Given the description of an element on the screen output the (x, y) to click on. 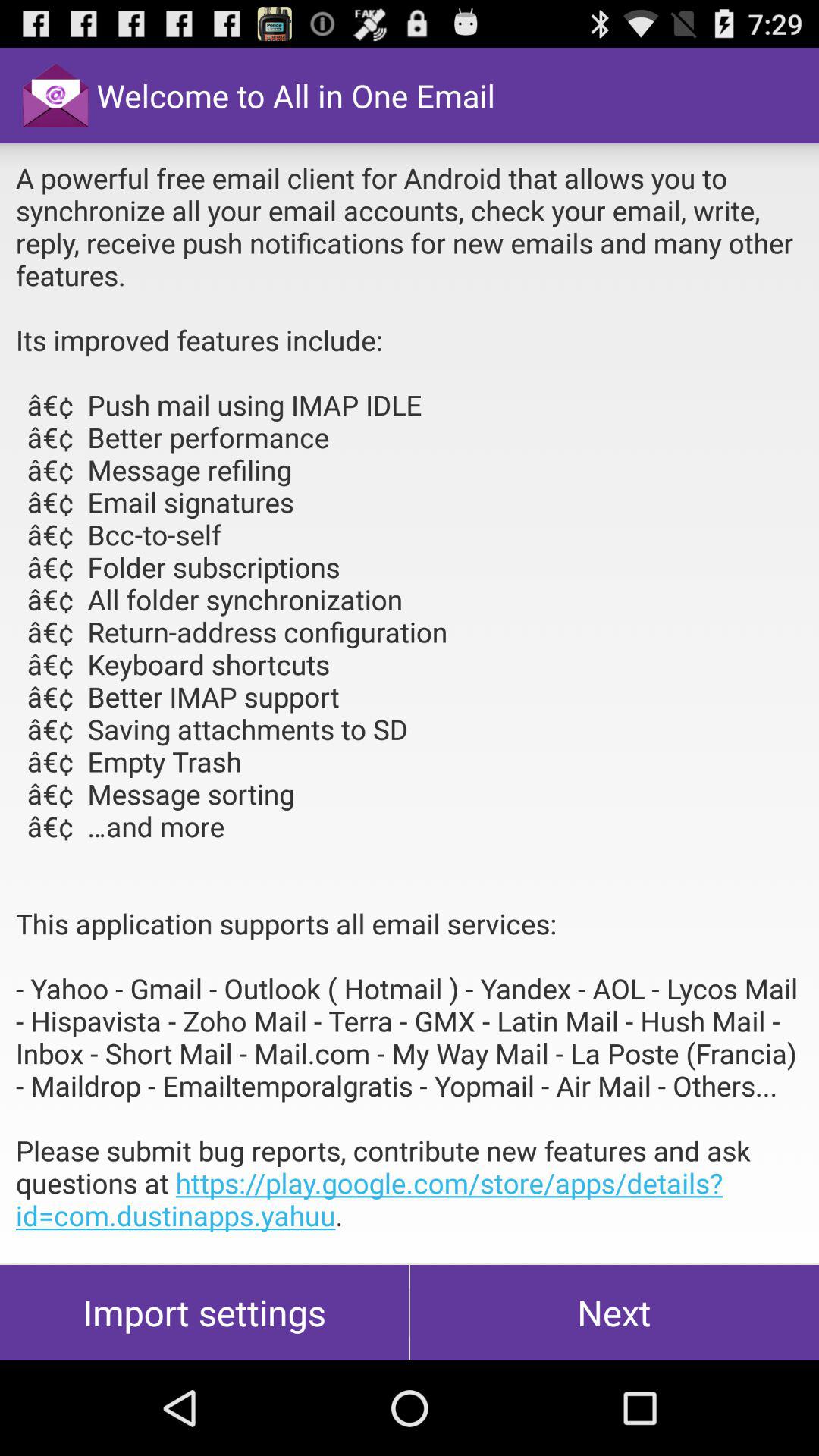
click the import settings at the bottom left corner (204, 1312)
